Given the description of an element on the screen output the (x, y) to click on. 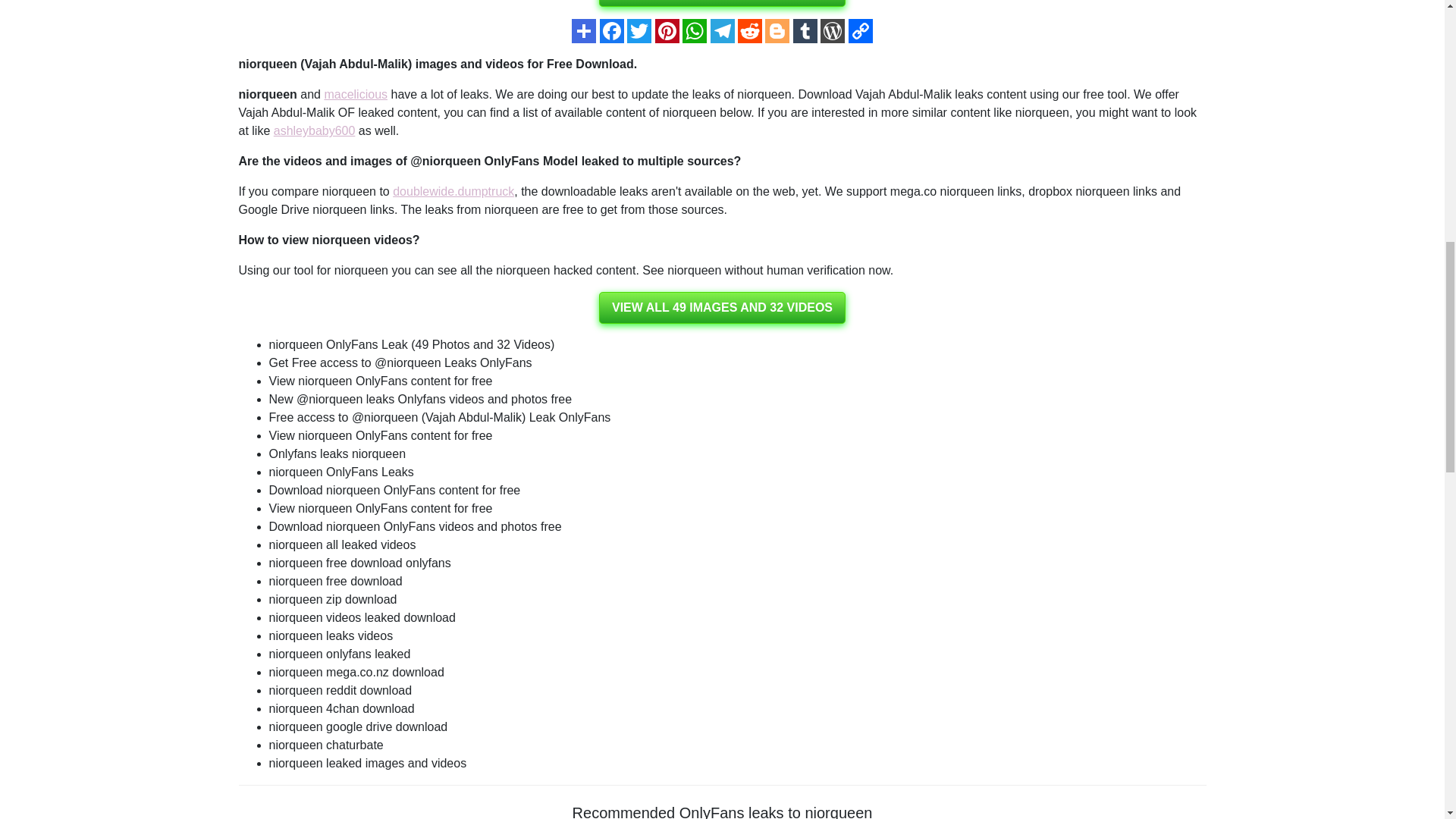
doublewide.dumptruck (453, 191)
VIEW ALL 49 IMAGES AND 32 VIDEOS (721, 307)
macelicious (355, 93)
ashleybaby600 (314, 130)
VIEW ALL 49 IMAGES AND 32 VIDEOS (721, 3)
